Given the description of an element on the screen output the (x, y) to click on. 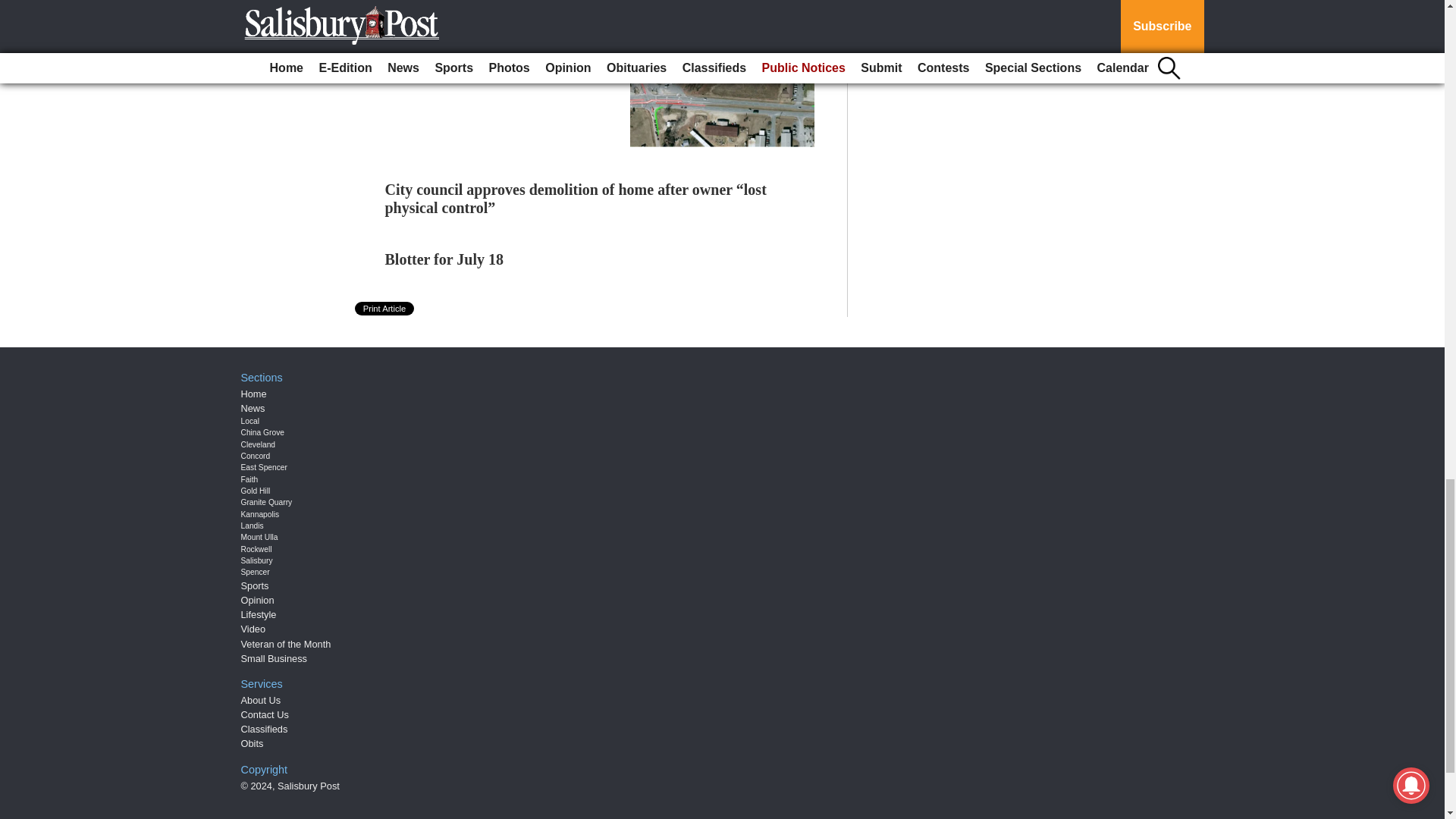
Blotter for July 18 (444, 258)
